Given the description of an element on the screen output the (x, y) to click on. 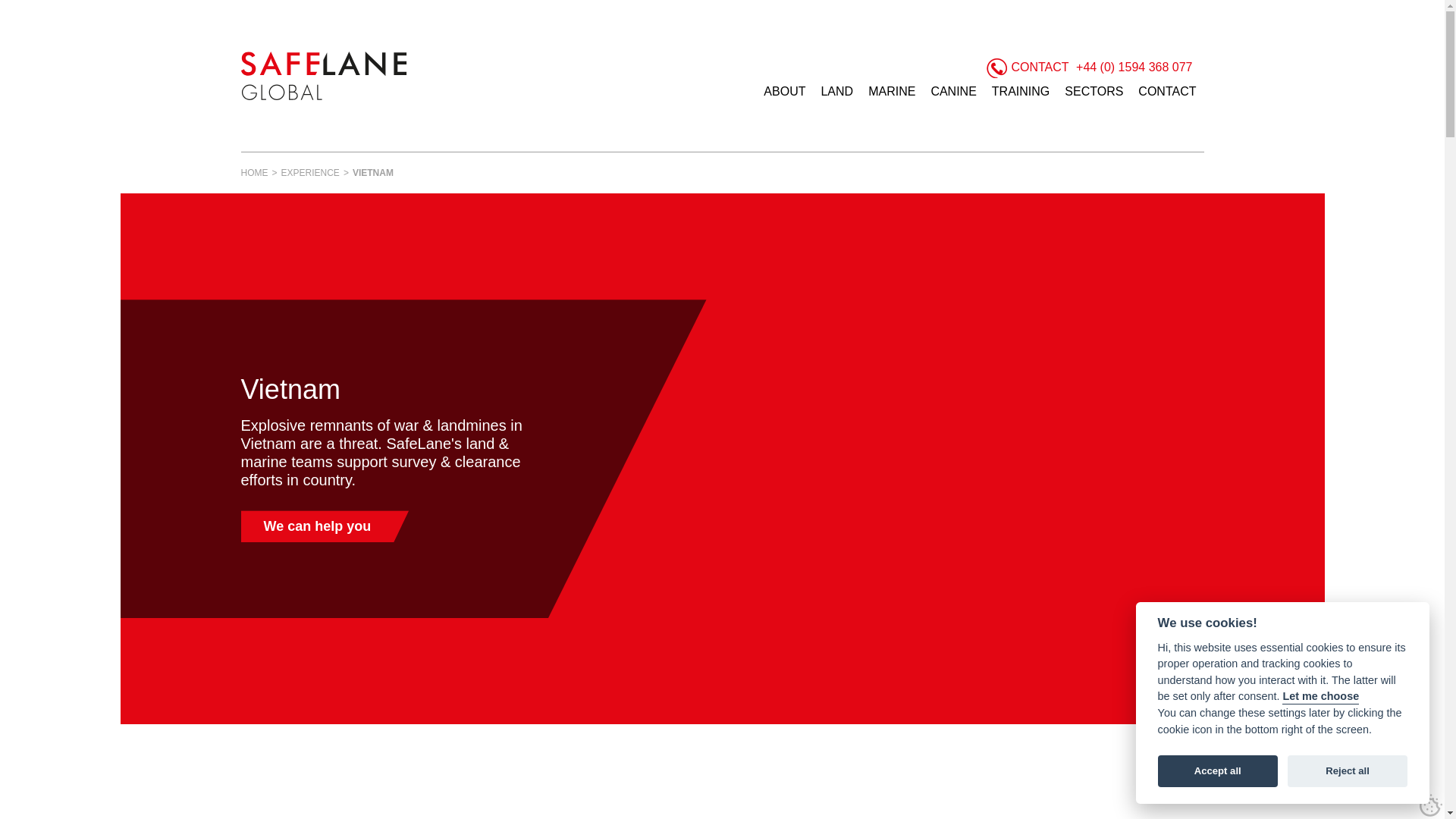
MARINE (891, 91)
LAND (836, 91)
ABOUT (783, 91)
